Given the description of an element on the screen output the (x, y) to click on. 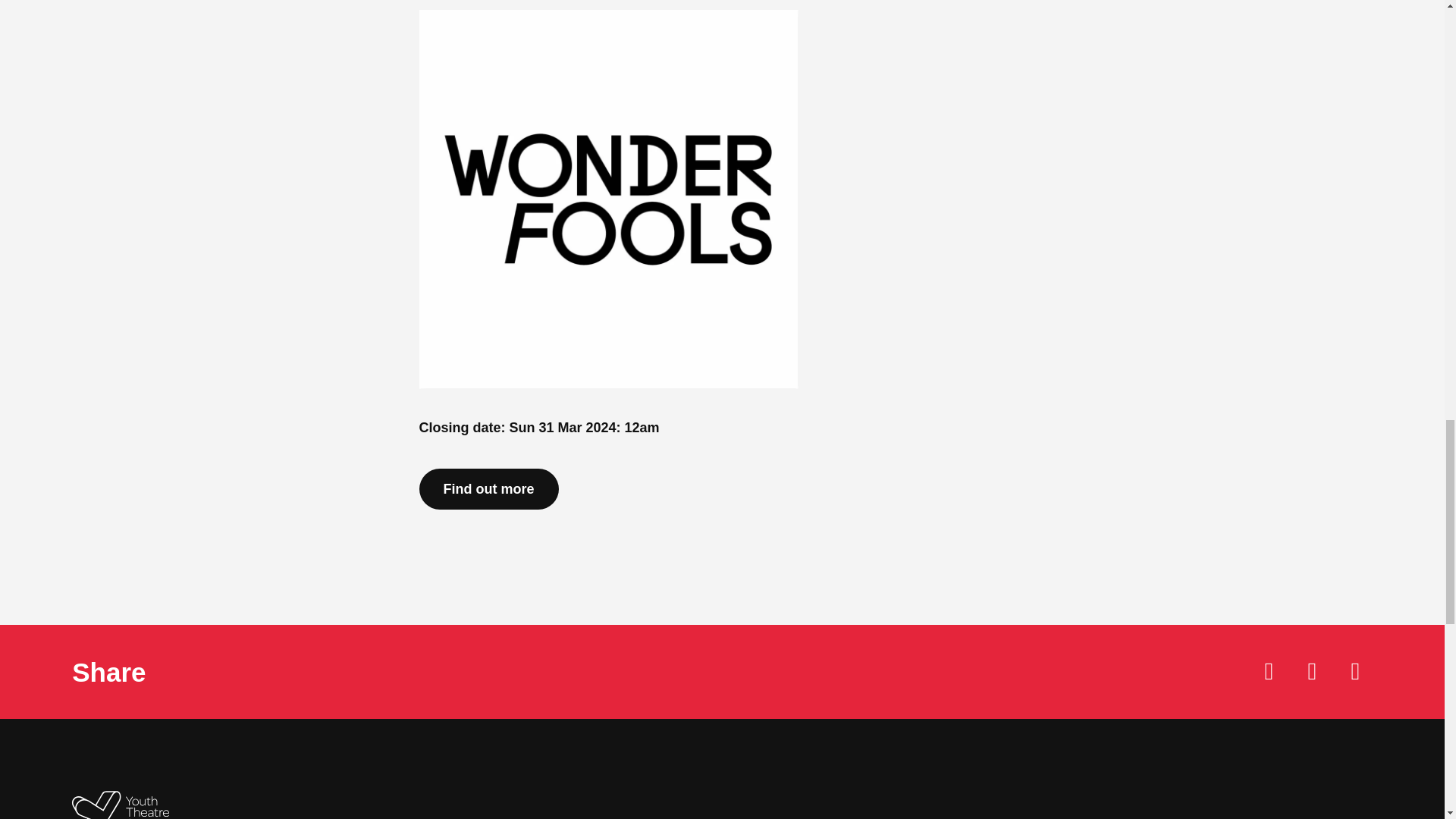
Find out more (488, 488)
